Given the description of an element on the screen output the (x, y) to click on. 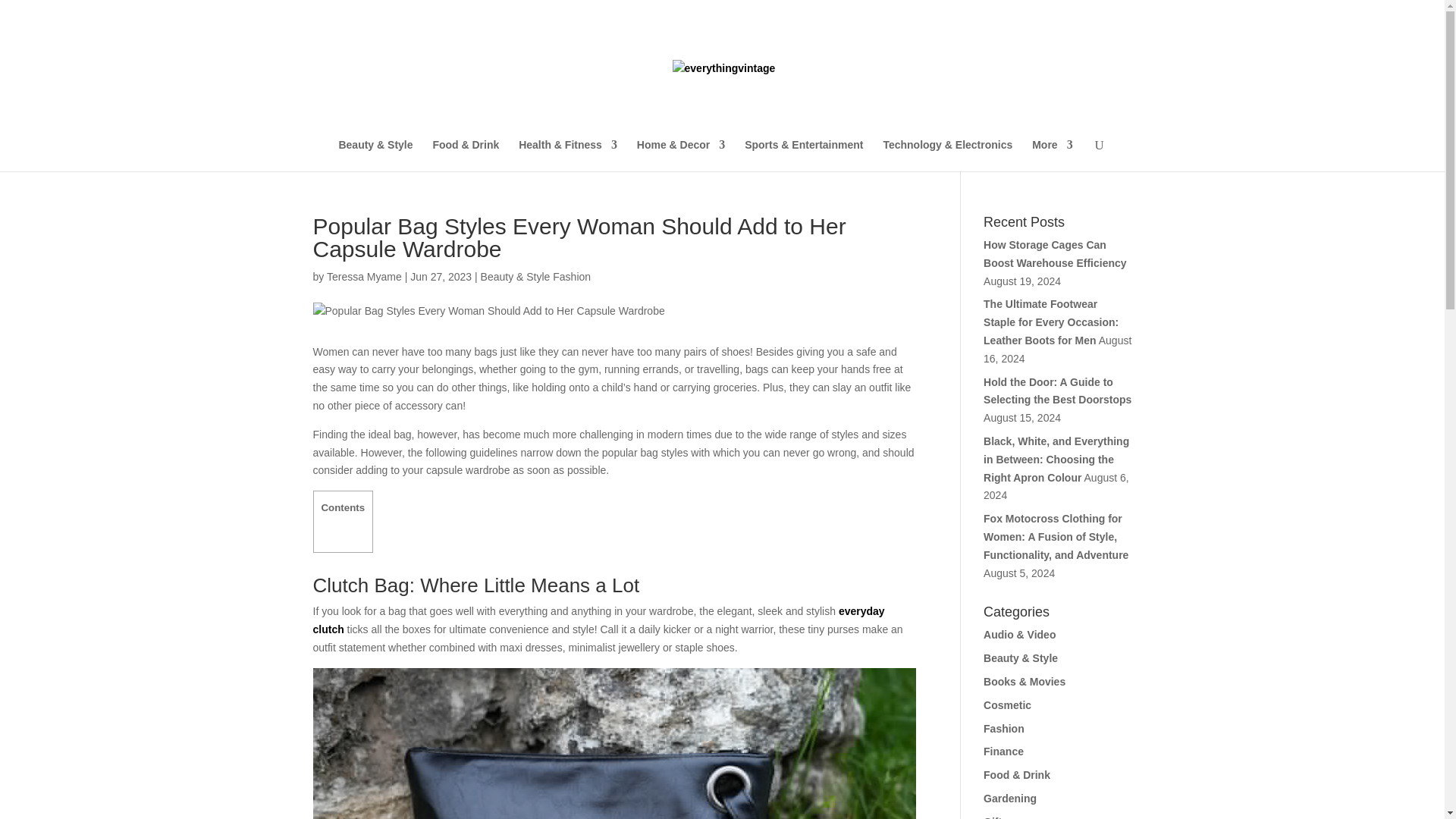
Hold the Door: A Guide to Selecting the Best Doorstops (1057, 390)
everyday clutch (598, 620)
Finance (1003, 751)
More (1051, 155)
Fashion (1004, 728)
How Storage Cages Can Boost Warehouse Efficiency (1055, 254)
Cosmetic (1007, 705)
Gifts (995, 817)
